Given the description of an element on the screen output the (x, y) to click on. 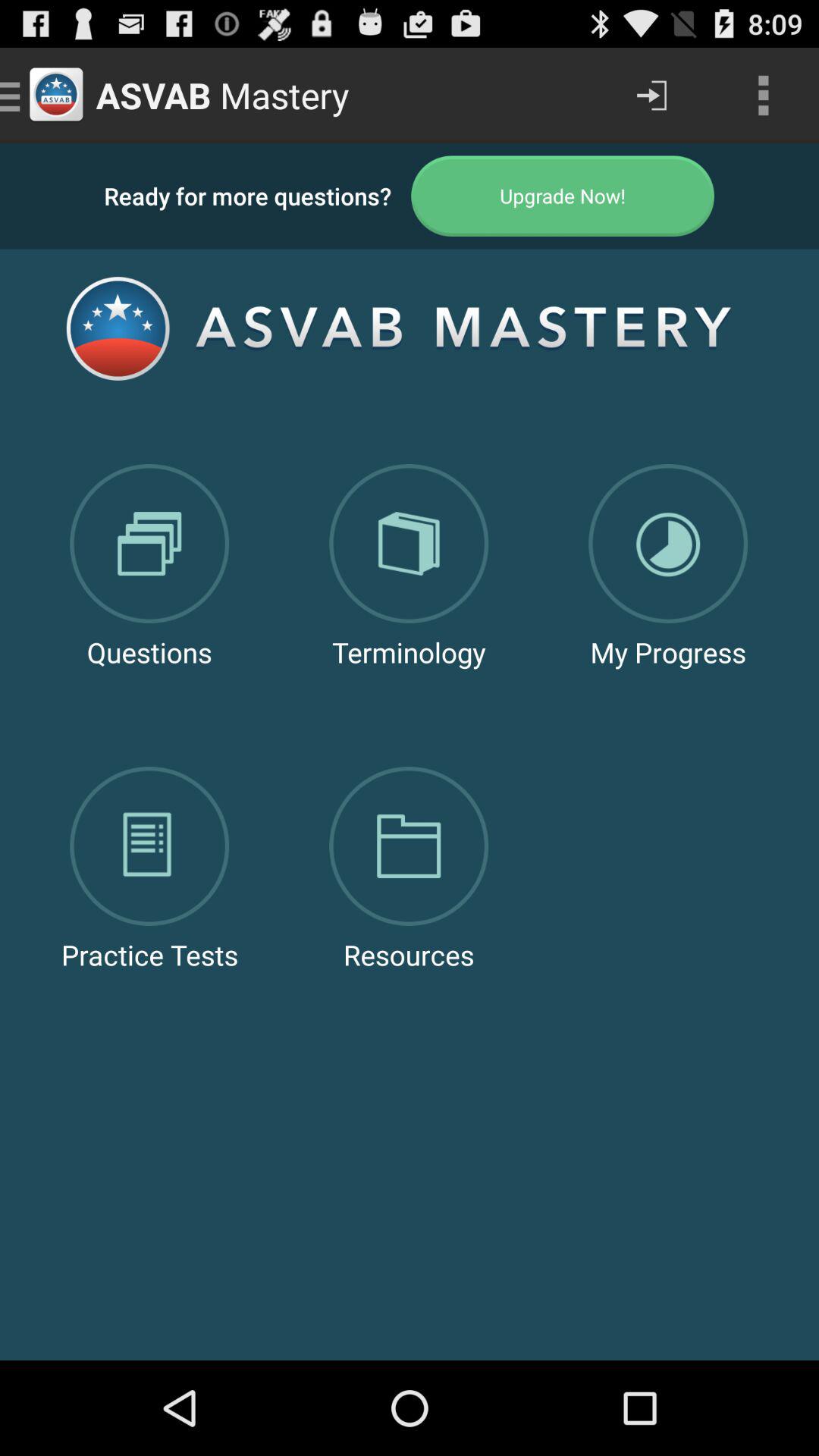
click on more options icon which is at top left corner (763, 95)
select the icon which is to the immediate left of more options icon (651, 95)
click on the terminology icon (409, 533)
